Given the description of an element on the screen output the (x, y) to click on. 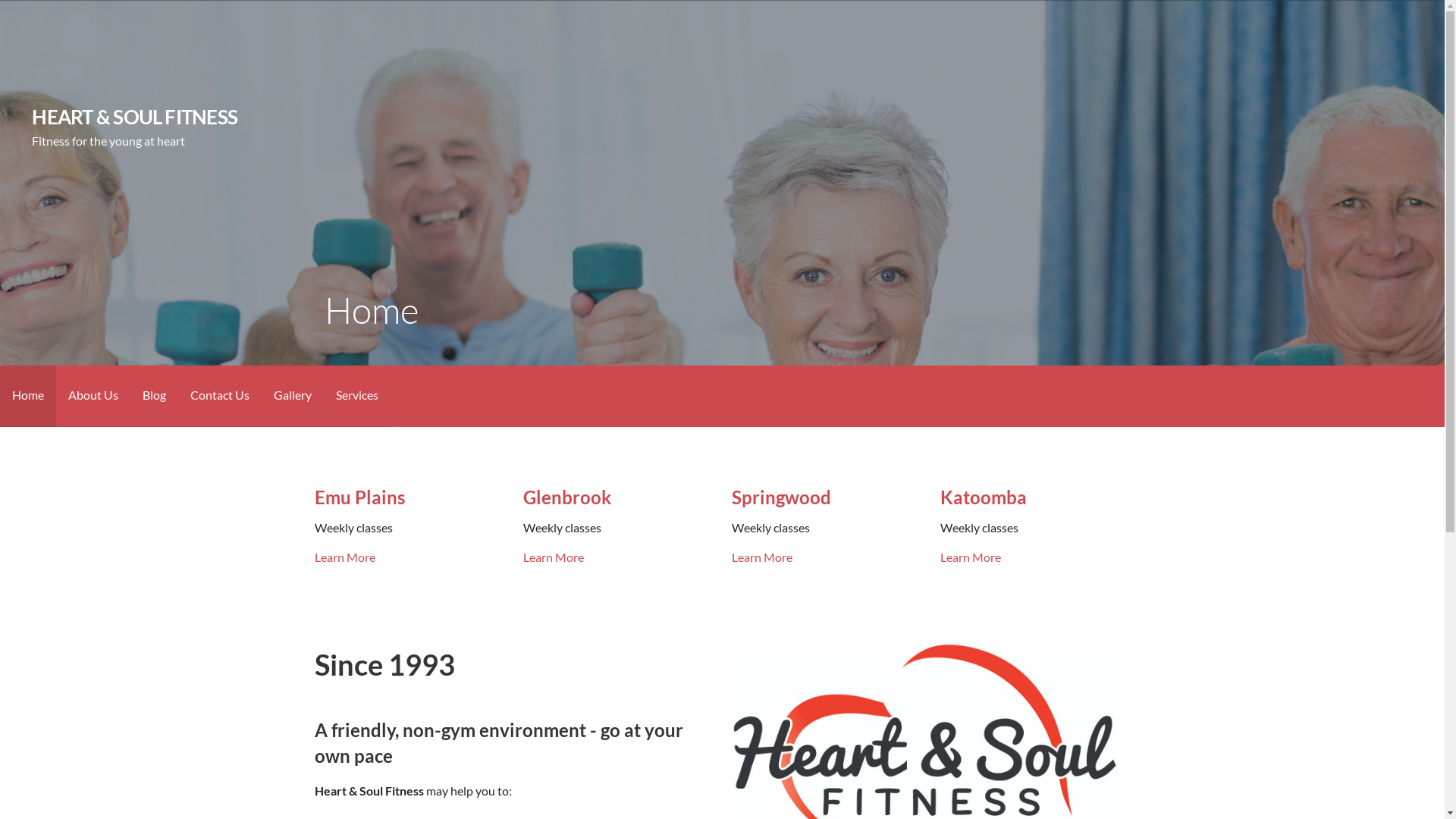
HEART & SOUL FITNESS Element type: text (134, 116)
About Us Element type: text (93, 395)
Emu Plains Element type: text (359, 497)
Learn More Element type: text (970, 556)
Learn More Element type: text (344, 556)
Skip to content Element type: text (0, 0)
Learn More Element type: text (553, 556)
Learn More Element type: text (761, 556)
Glenbrook Element type: text (567, 497)
Blog Element type: text (154, 395)
Springwood Element type: text (781, 497)
Home Element type: text (28, 395)
Services Element type: text (356, 395)
Gallery Element type: text (292, 395)
Katoomba Element type: text (983, 497)
Contact Us Element type: text (219, 395)
